Given the description of an element on the screen output the (x, y) to click on. 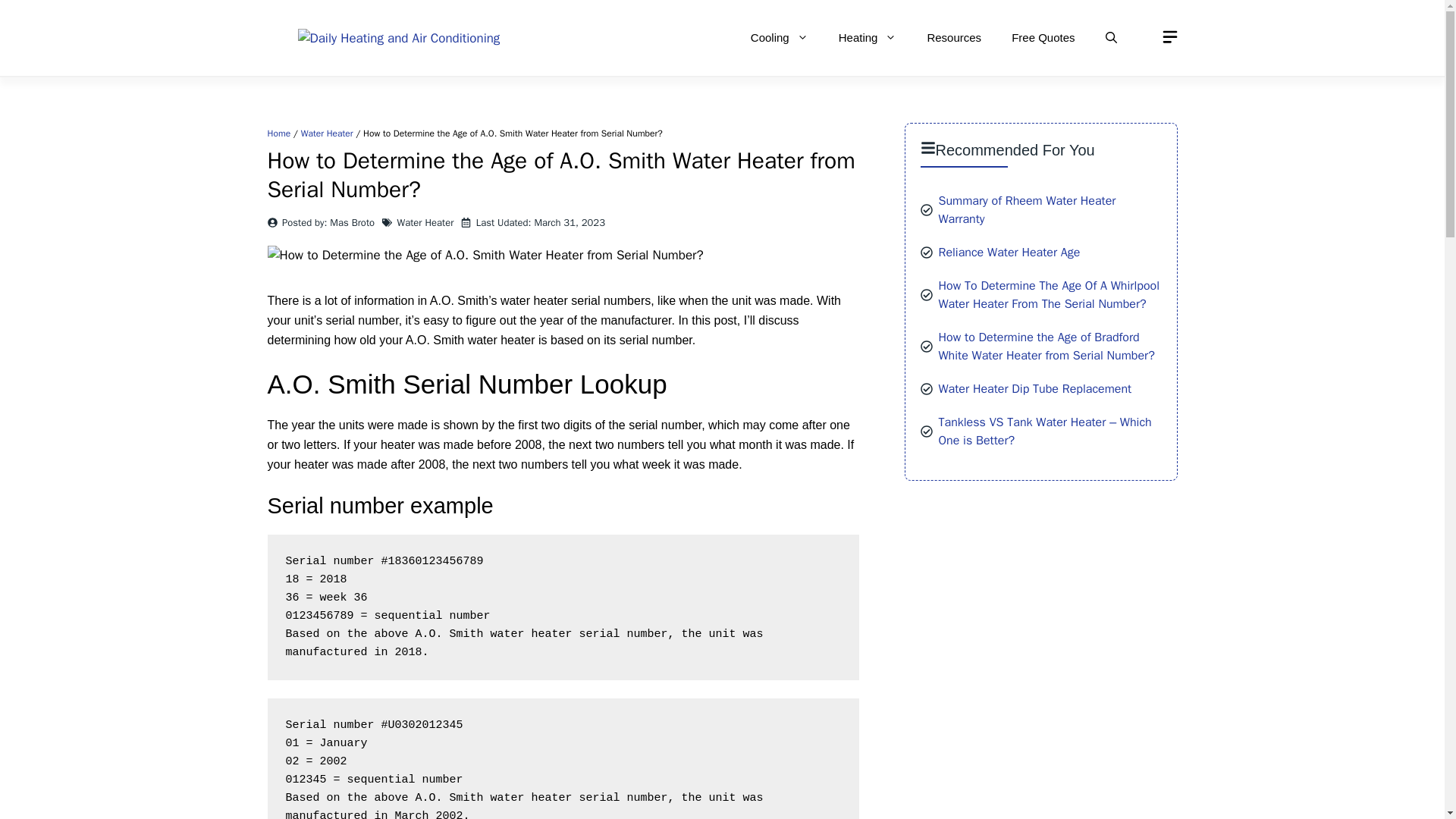
Cooling (779, 37)
Free Quotes (1042, 37)
Home (277, 133)
Water Heater (425, 222)
Heating (868, 37)
Water Heater (327, 133)
Resources (953, 37)
